Given the description of an element on the screen output the (x, y) to click on. 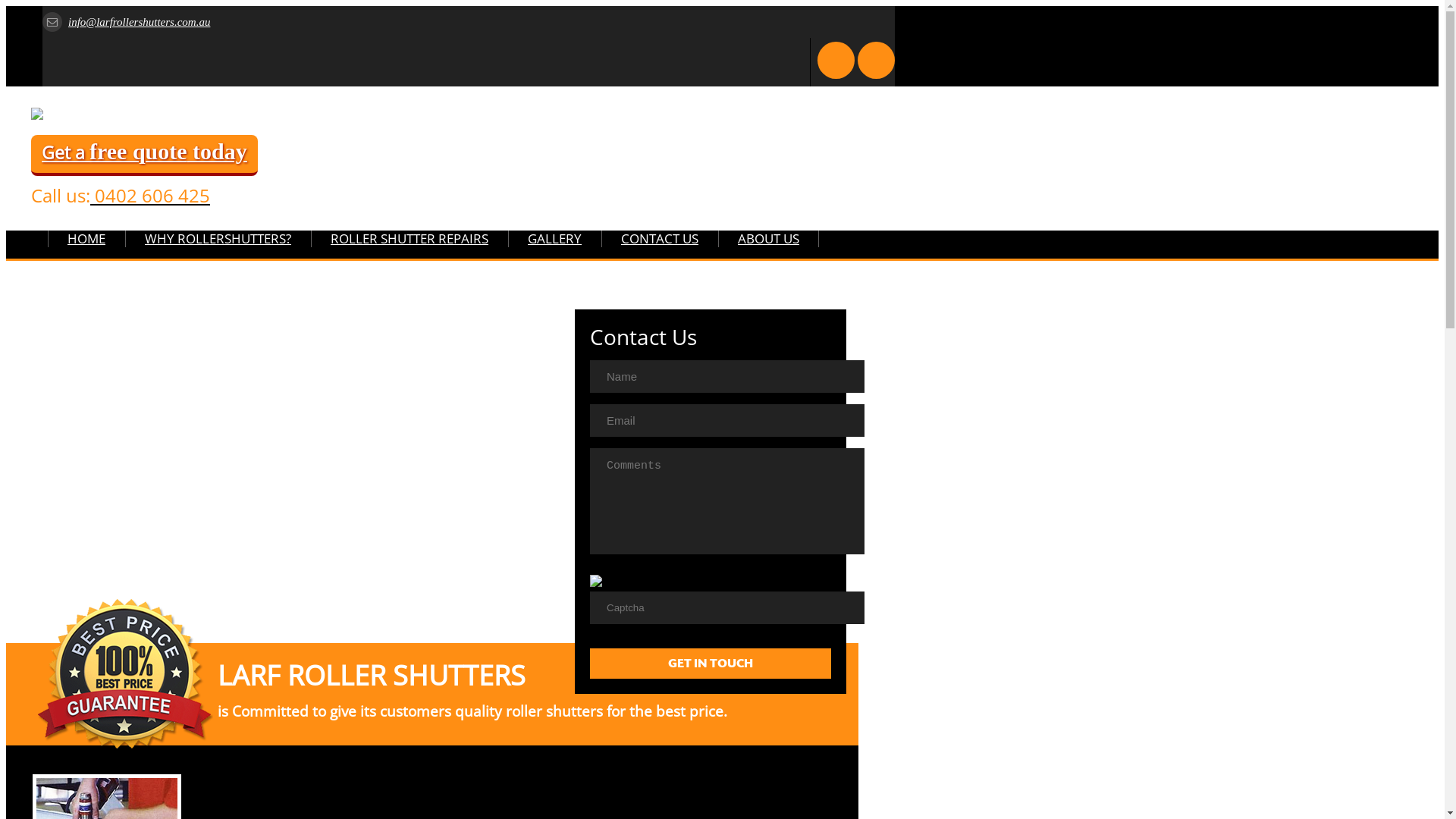
GALLERY Element type: text (554, 238)
Get a free quote today Element type: text (144, 154)
linkedin Element type: text (869, 53)
HOME Element type: text (86, 238)
0402 606 425 Element type: text (150, 194)
info@larfrollershutters.com.au Element type: text (126, 21)
facebook Element type: text (829, 53)
Get in Touch Element type: text (710, 663)
ROLLER SHUTTER REPAIRS Element type: text (409, 238)
CONTACT US Element type: text (659, 238)
WHY ROLLERSHUTTERS? Element type: text (217, 238)
ABOUT US Element type: text (768, 238)
